Given the description of an element on the screen output the (x, y) to click on. 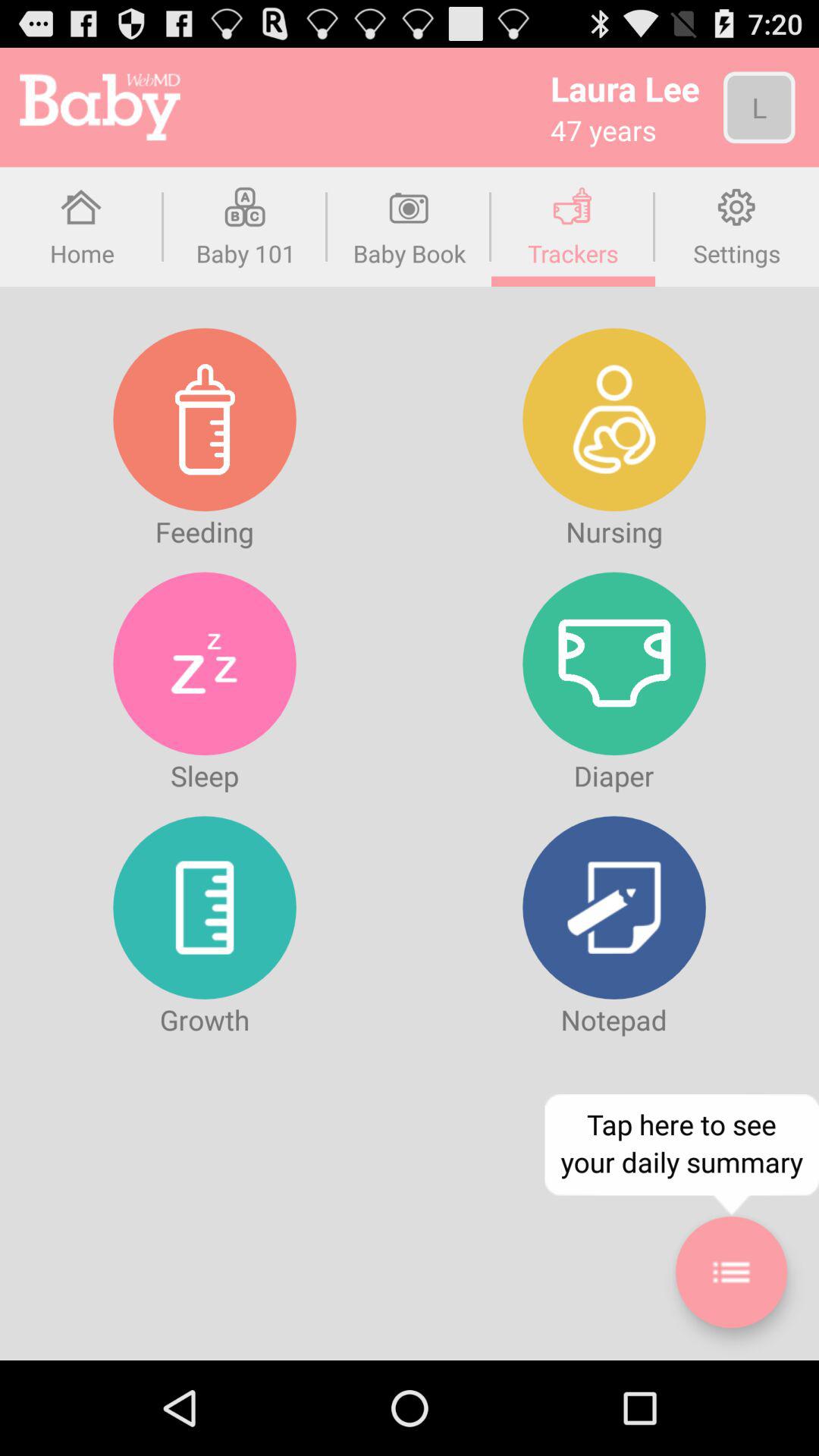
select daily summary (731, 1272)
